Given the description of an element on the screen output the (x, y) to click on. 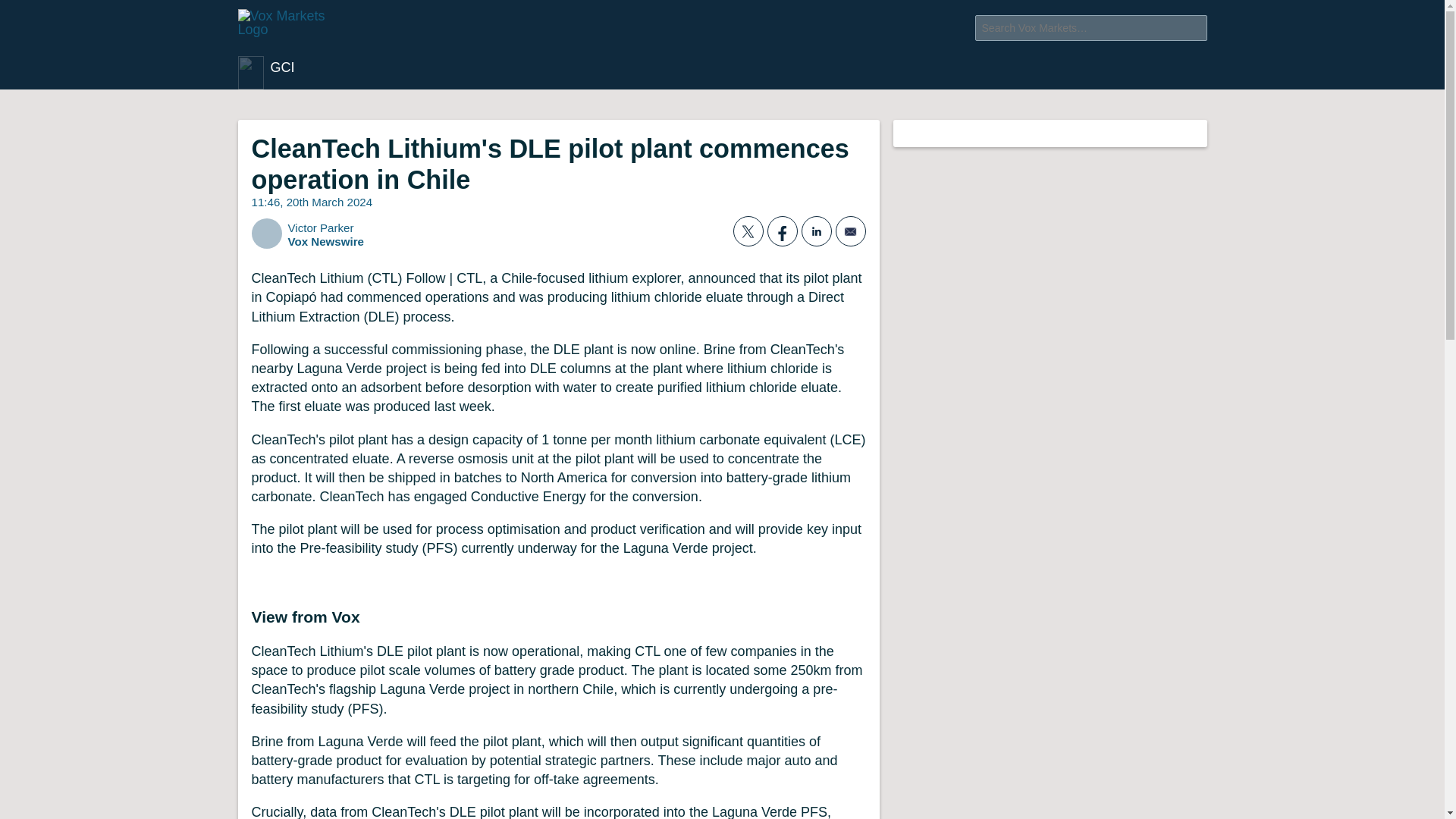
LinkedIn (816, 231)
Vox Markets Home Page (303, 29)
Vox Newswire (329, 241)
Email (850, 231)
GCI (269, 72)
Facebook (782, 231)
